Given the description of an element on the screen output the (x, y) to click on. 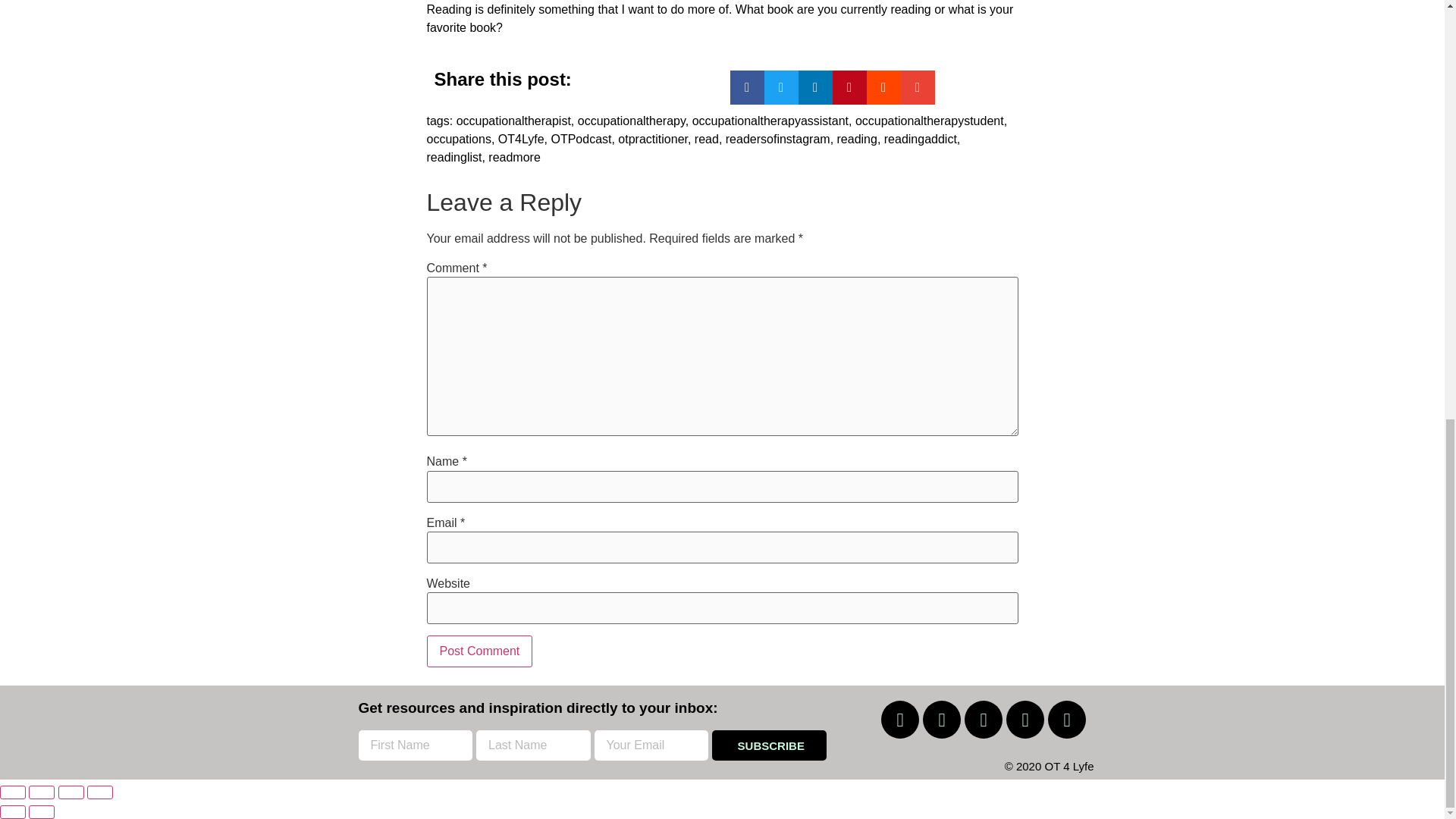
Post Comment (479, 651)
